Given the description of an element on the screen output the (x, y) to click on. 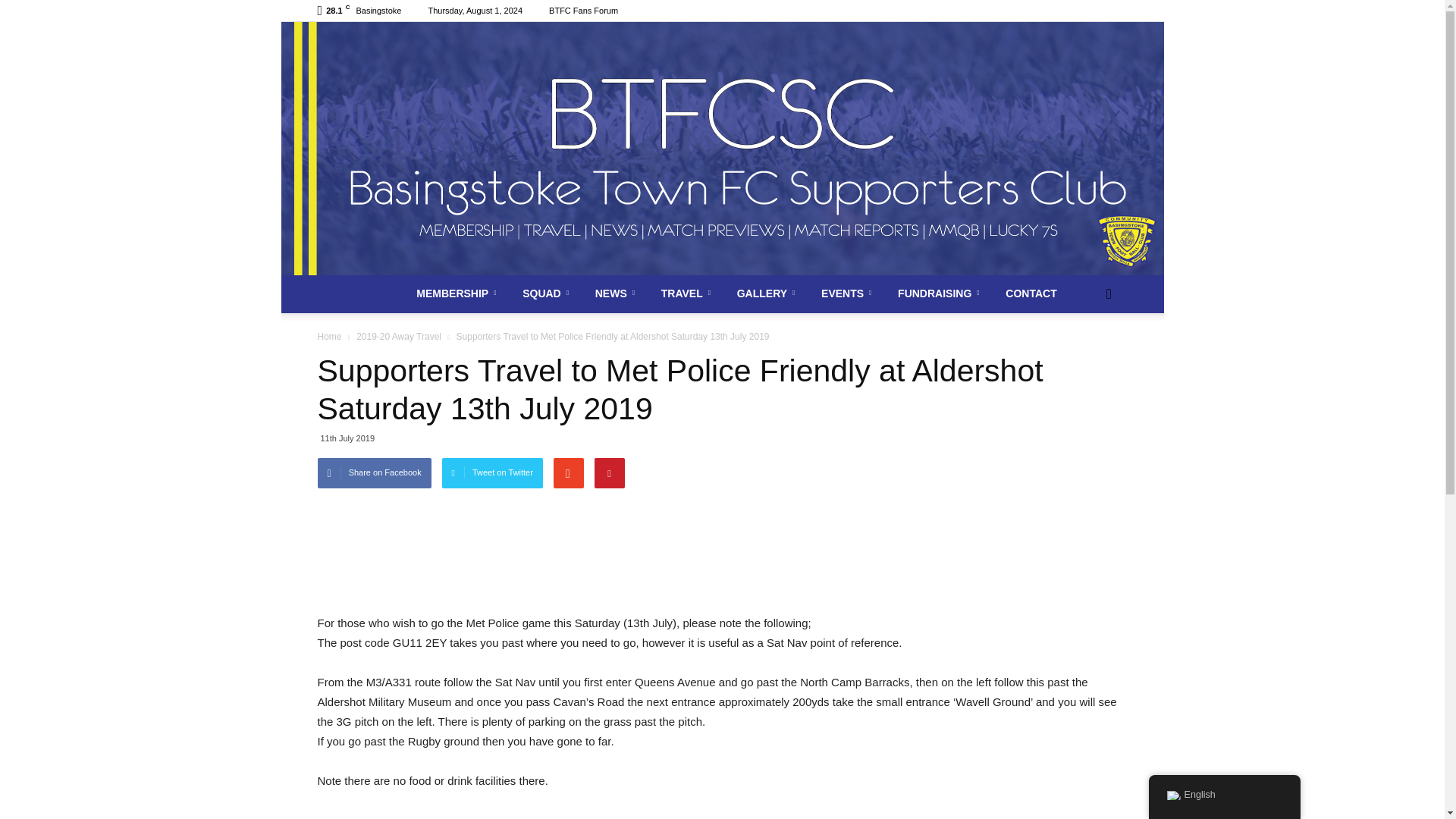
English (1172, 794)
View all posts in 2019-20 Away Travel (400, 336)
